Given the description of an element on the screen output the (x, y) to click on. 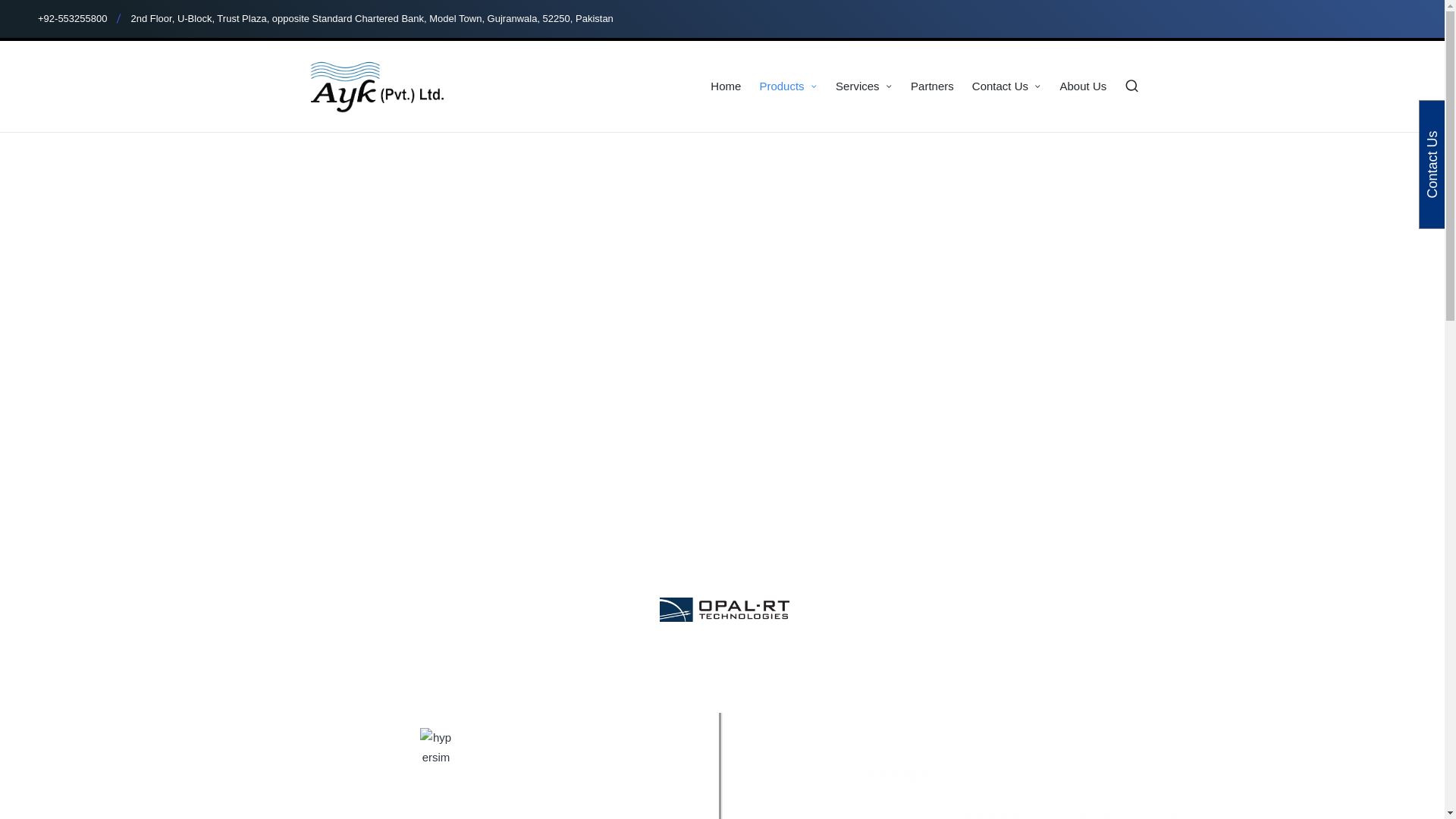
Products (787, 86)
eMEGASIM (1005, 791)
Home (725, 86)
HYPERSIM (436, 750)
